Given the description of an element on the screen output the (x, y) to click on. 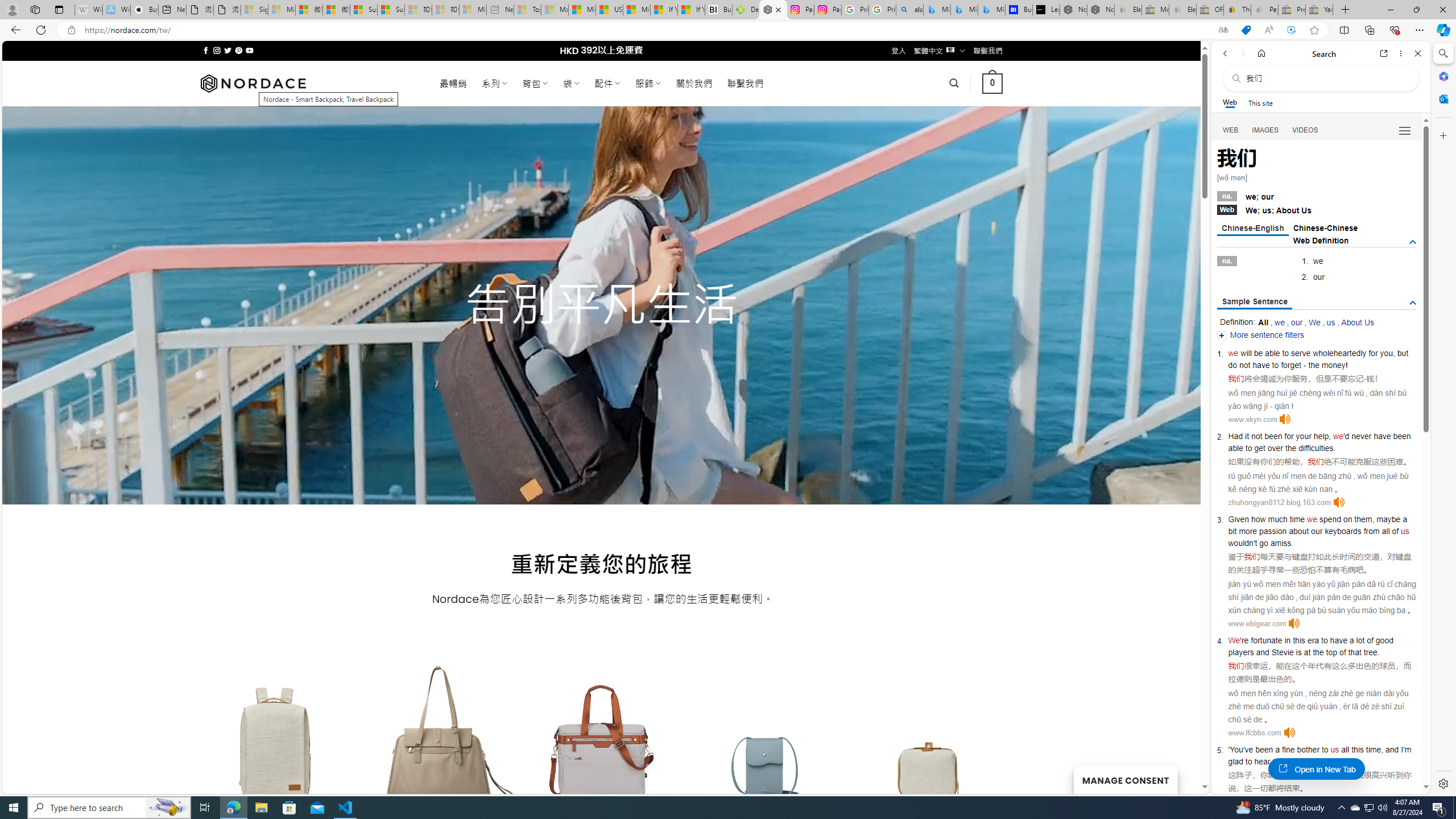
from (1371, 530)
more (1248, 530)
we (1312, 519)
Follow on YouTube (249, 50)
Show translate options (1222, 29)
